Given the description of an element on the screen output the (x, y) to click on. 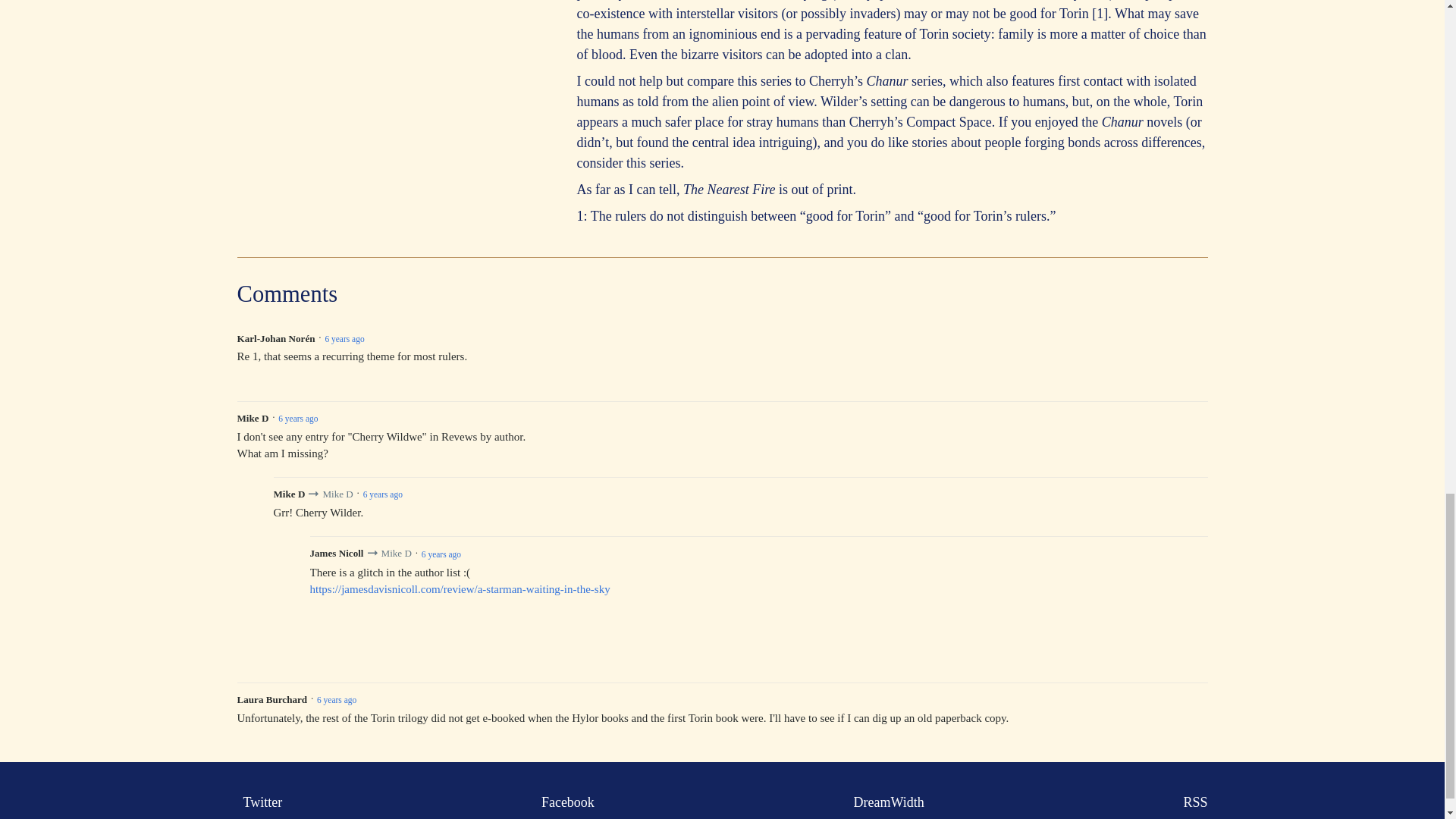
RSS (1191, 801)
6 years ago (336, 699)
Facebook (564, 801)
Twitter (258, 801)
DreamWidth (885, 801)
Mike D (336, 493)
6 years ago (344, 338)
Mike D (395, 552)
6 years ago (297, 418)
6 years ago (382, 494)
6 years ago (441, 554)
